Given the description of an element on the screen output the (x, y) to click on. 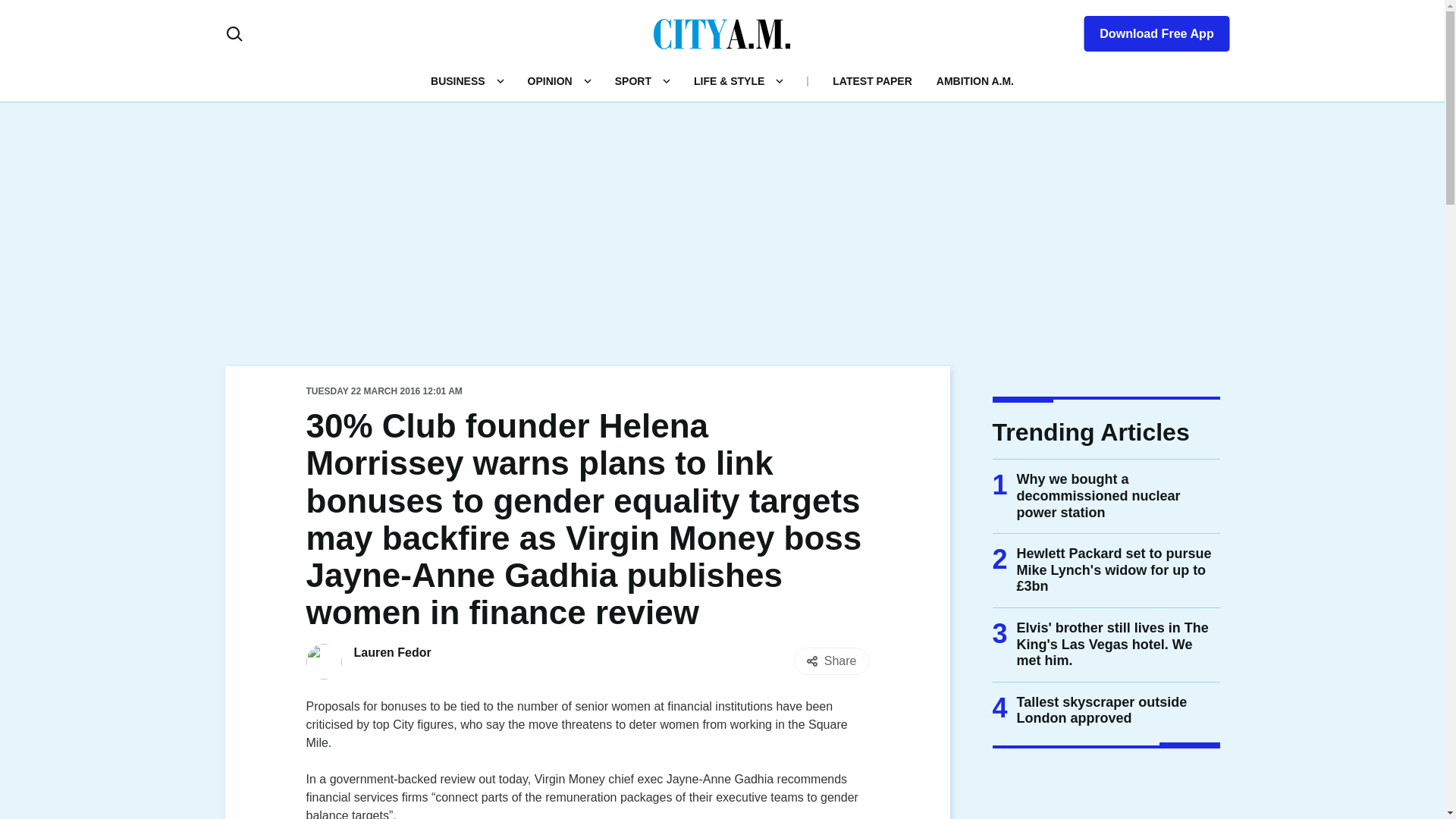
SPORT (632, 80)
BUSINESS (457, 80)
OPINION (549, 80)
Download Free App (1146, 30)
CityAM (721, 33)
